Given the description of an element on the screen output the (x, y) to click on. 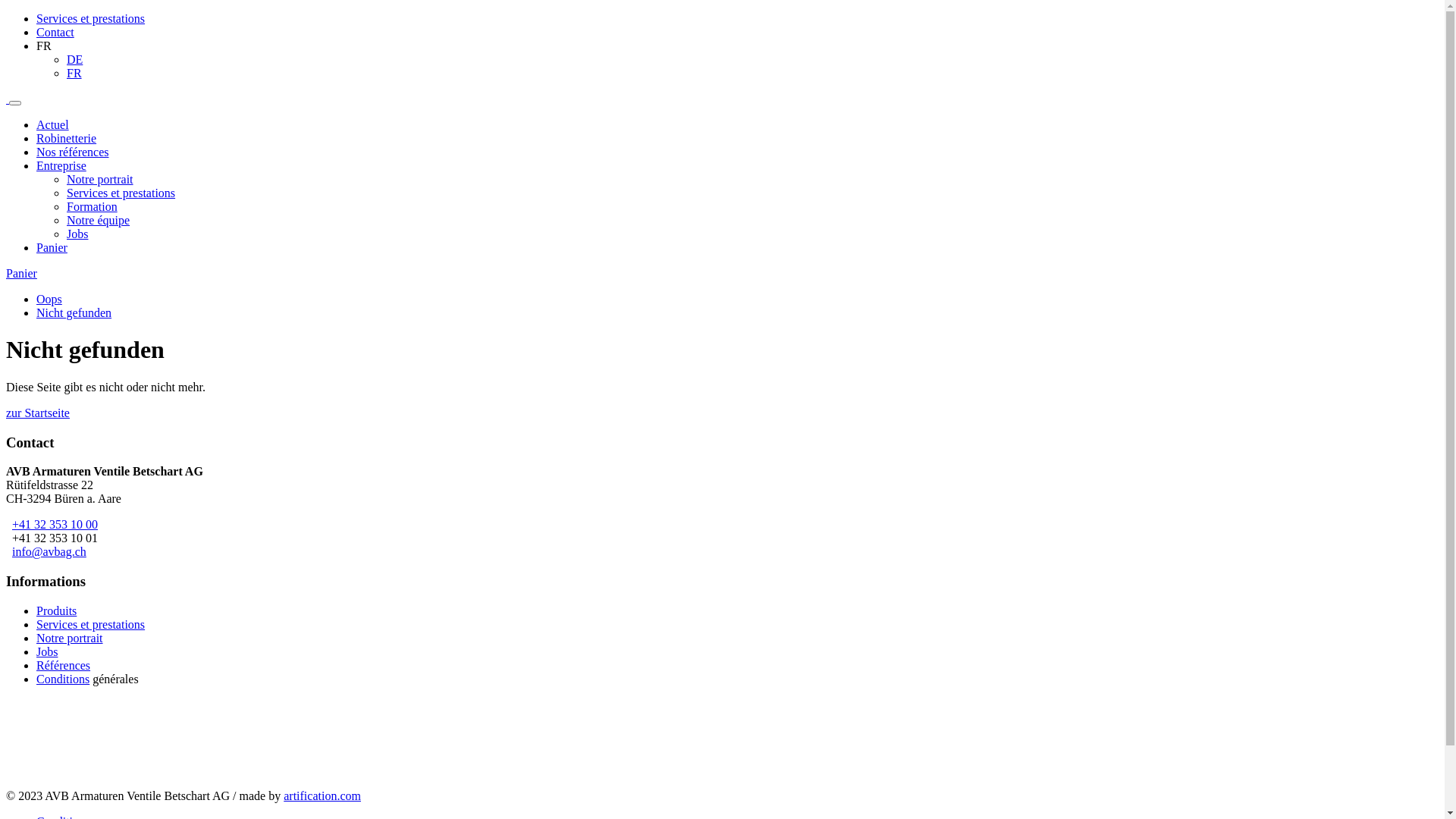
Oops Element type: text (49, 298)
FR Element type: text (73, 72)
Contact Element type: text (55, 31)
Robinetterie Element type: text (66, 137)
DE Element type: text (74, 59)
Conditions Element type: text (62, 678)
Notre portrait Element type: text (69, 637)
+41 32 353 10 00 Element type: text (54, 523)
Panier Element type: text (21, 272)
FR Element type: text (43, 45)
Actuel Element type: text (52, 124)
Panier Element type: text (51, 247)
Notre portrait Element type: text (99, 178)
Services et prestations Element type: text (90, 624)
Services et prestations Element type: text (90, 18)
Entreprise Element type: text (61, 165)
Nicht gefunden Element type: text (73, 312)
artification.com Element type: text (321, 795)
Formation Element type: text (91, 206)
info@avbag.ch Element type: text (49, 551)
Jobs Element type: text (76, 233)
zur Startseite Element type: text (37, 412)
Services et prestations Element type: text (120, 192)
Jobs Element type: text (46, 651)
Produits Element type: text (56, 610)
